Given the description of an element on the screen output the (x, y) to click on. 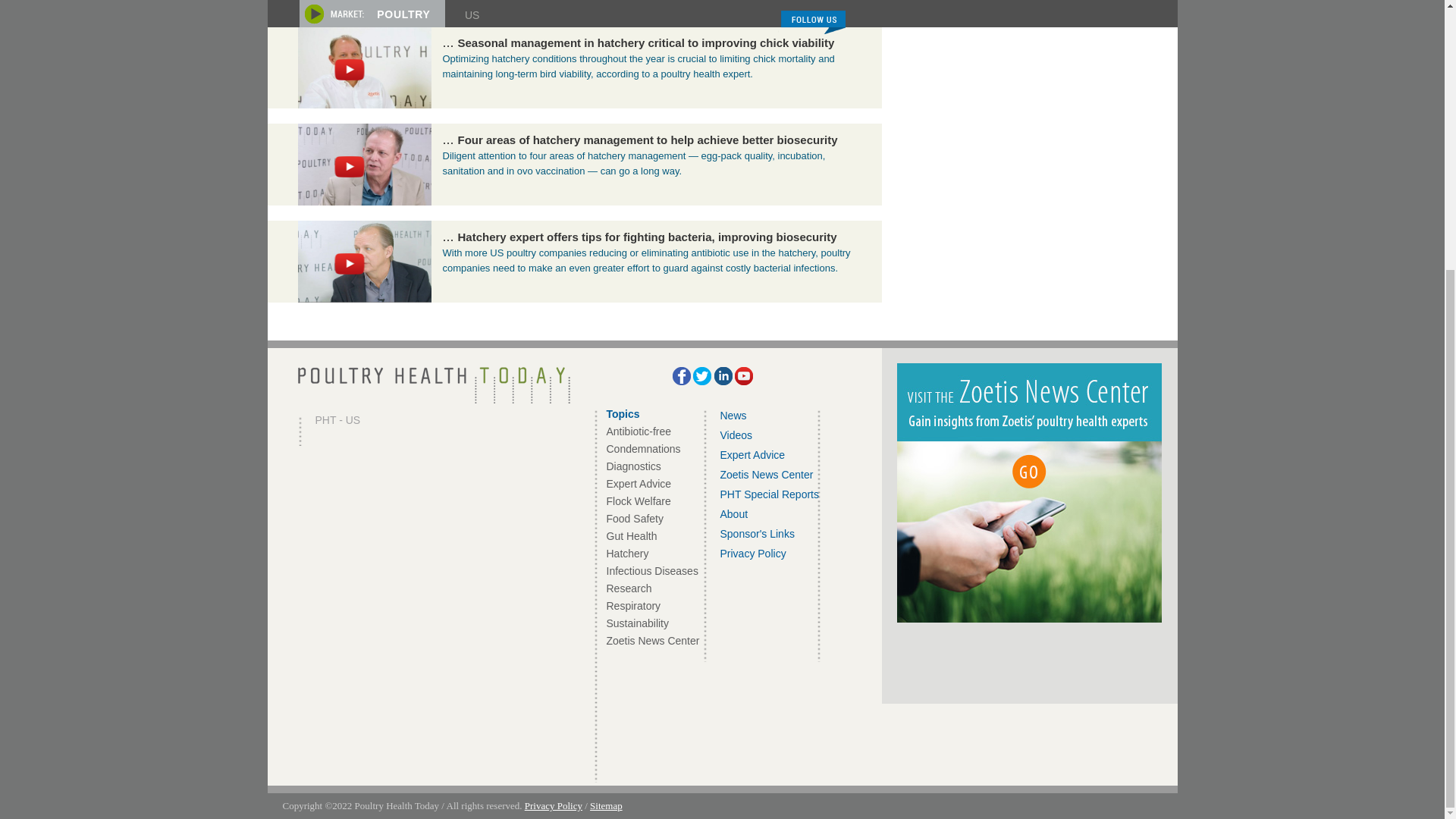
View all PHT Special Reports (769, 494)
View all posts filed under Condemnations  (644, 449)
View all posts filed under Zoetis News Center (653, 640)
